Given the description of an element on the screen output the (x, y) to click on. 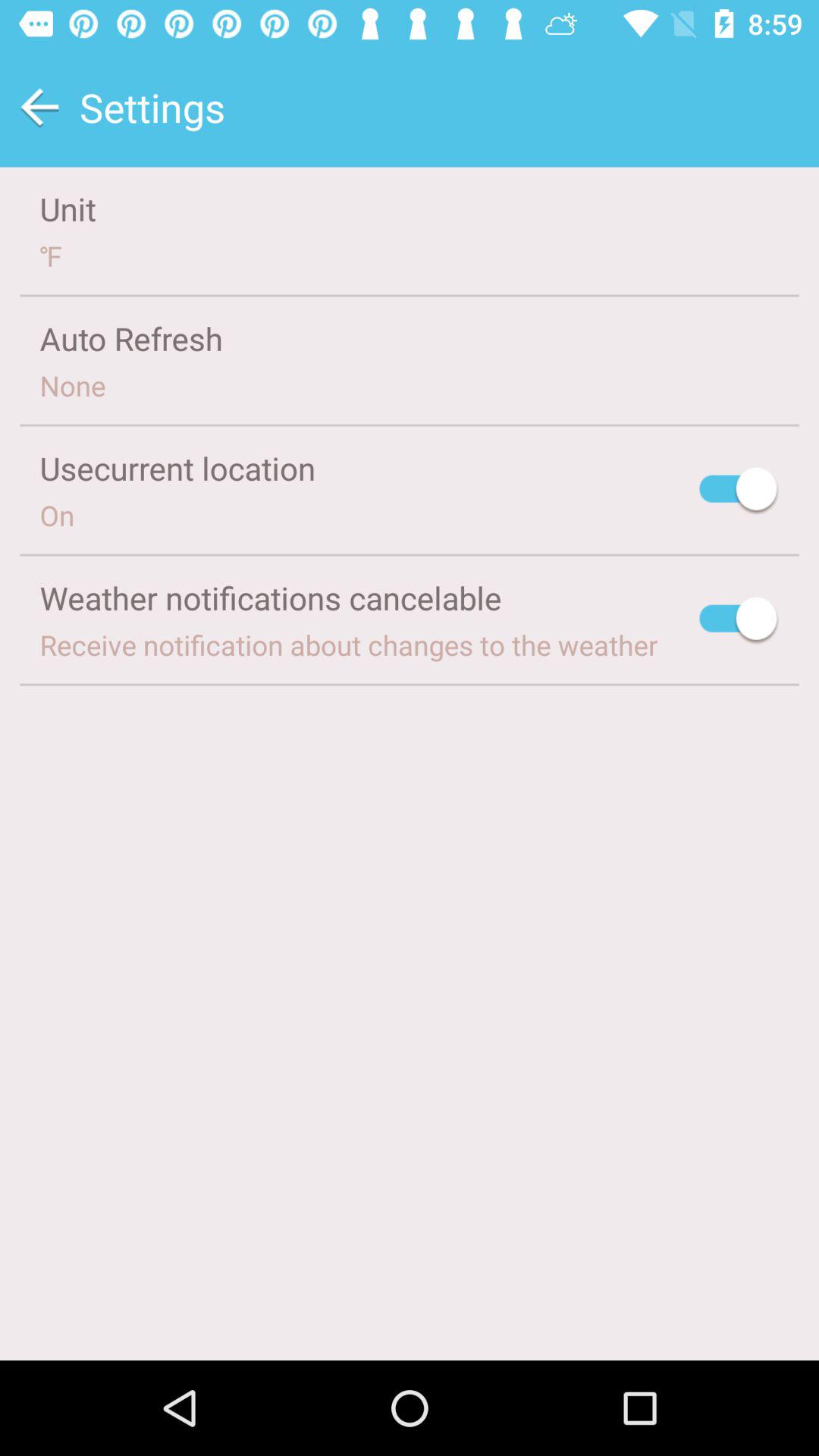
switch element on/off (739, 491)
